Given the description of an element on the screen output the (x, y) to click on. 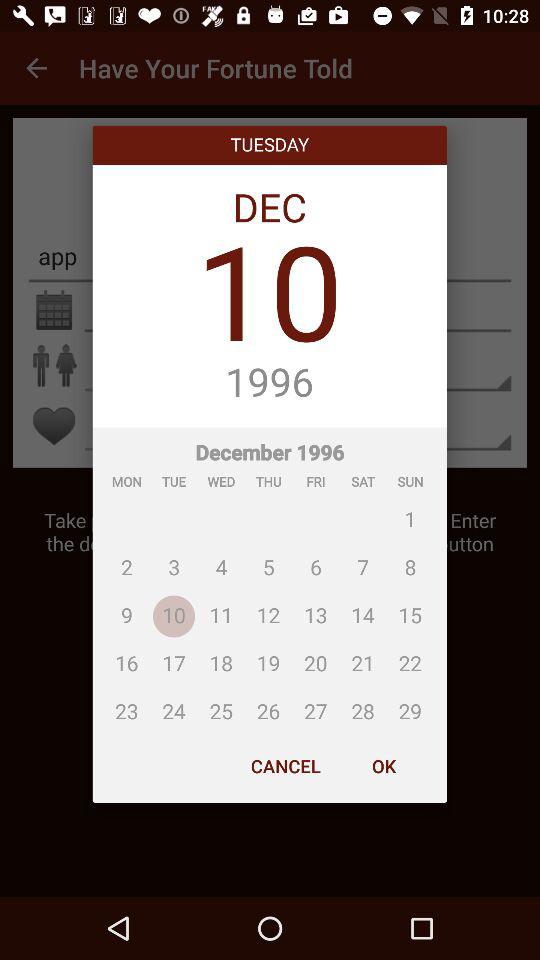
jump until 1996 icon (269, 383)
